Given the description of an element on the screen output the (x, y) to click on. 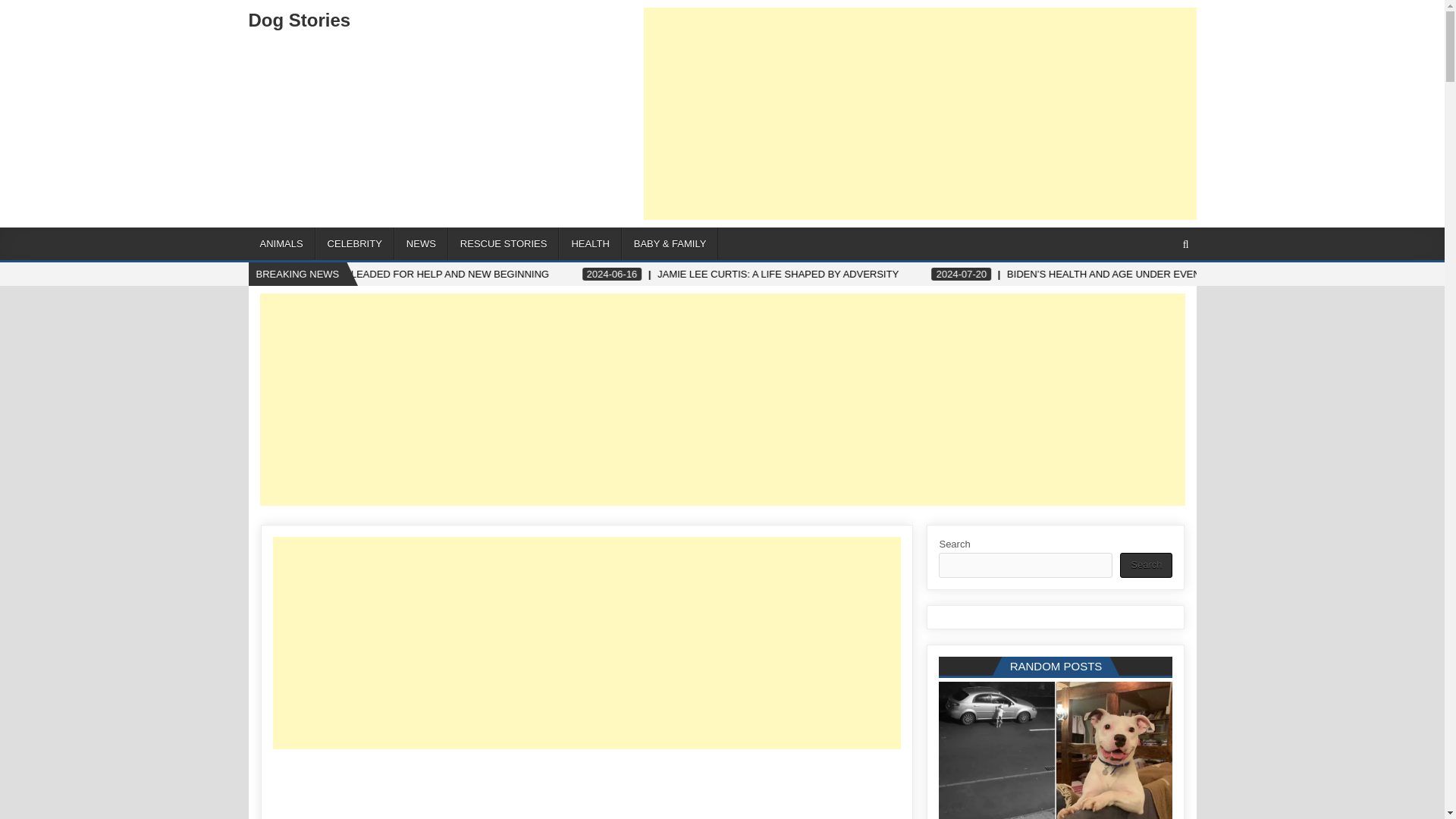
CELEBRITY (354, 243)
2024-06-16 JAMIE LEE CURTIS: A LIFE SHAPED BY ADVERSITY (962, 274)
HEALTH (590, 243)
ANIMALS (281, 243)
NEWS (421, 243)
RESCUE STORIES (503, 243)
Dog Stories (299, 19)
